Given the description of an element on the screen output the (x, y) to click on. 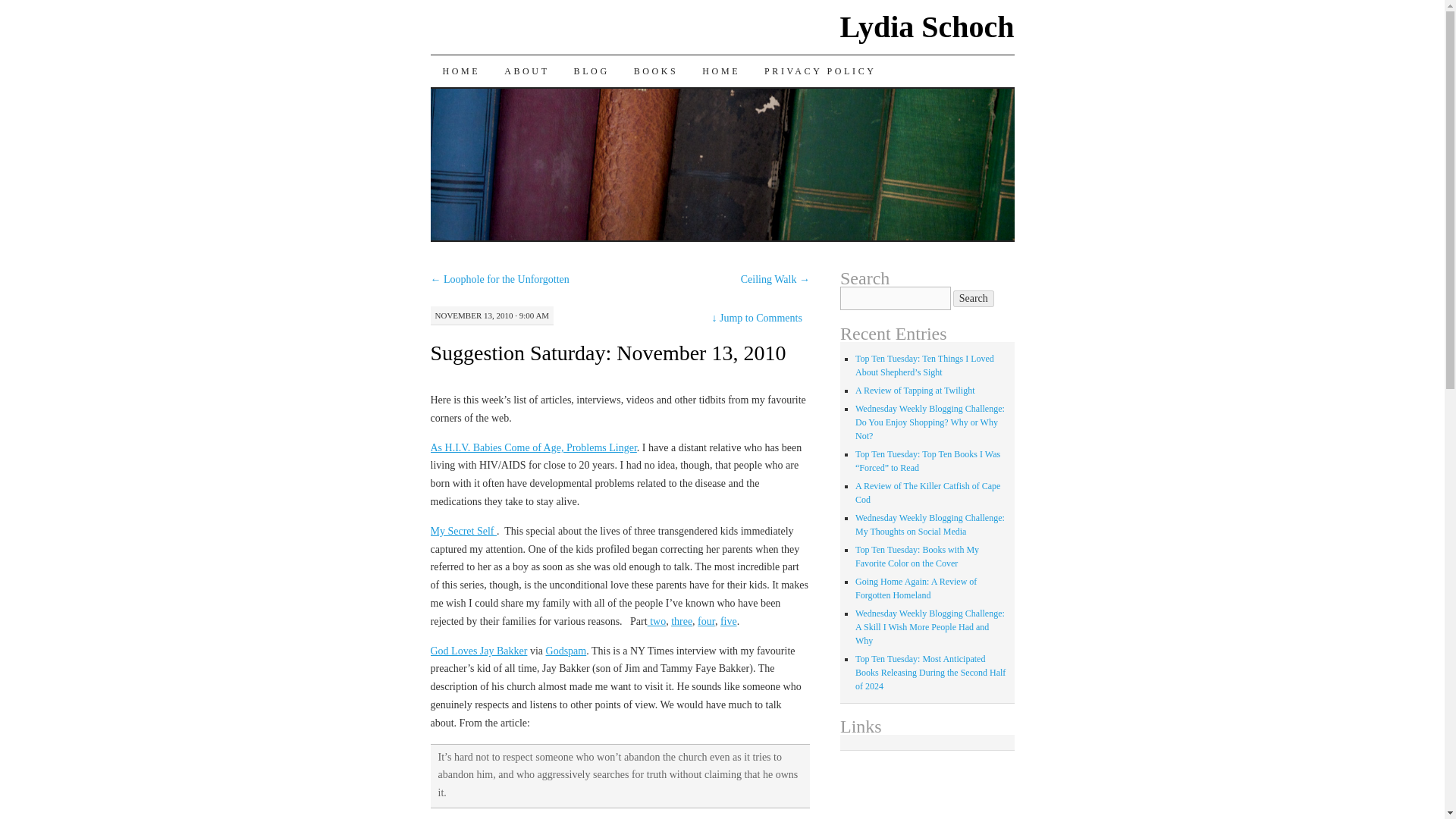
A Review of The Killer Catfish of Cape Cod (928, 492)
Lydia Schoch (926, 26)
three (682, 621)
As H.I.V. Babies Come of Age, Problems Linger (533, 447)
two (656, 621)
HOME (461, 70)
BOOKS (655, 70)
Search (973, 298)
My Secret Self (463, 531)
ABOUT (526, 70)
Lydia Schoch (926, 26)
Skip to content (440, 101)
A Review of Tapping at Twilight (915, 389)
five (728, 621)
